Given the description of an element on the screen output the (x, y) to click on. 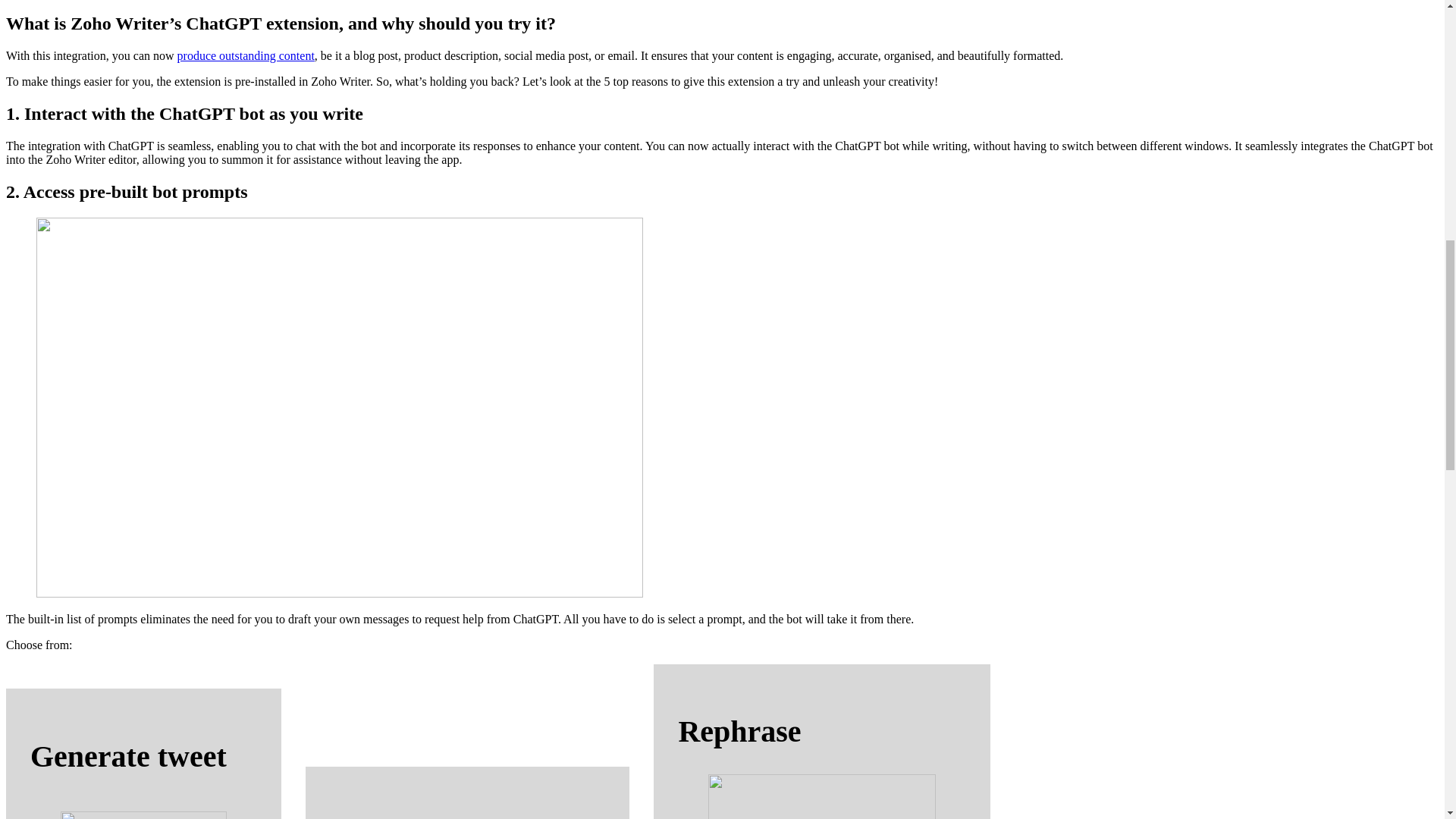
produce outstanding content (245, 55)
